Given the description of an element on the screen output the (x, y) to click on. 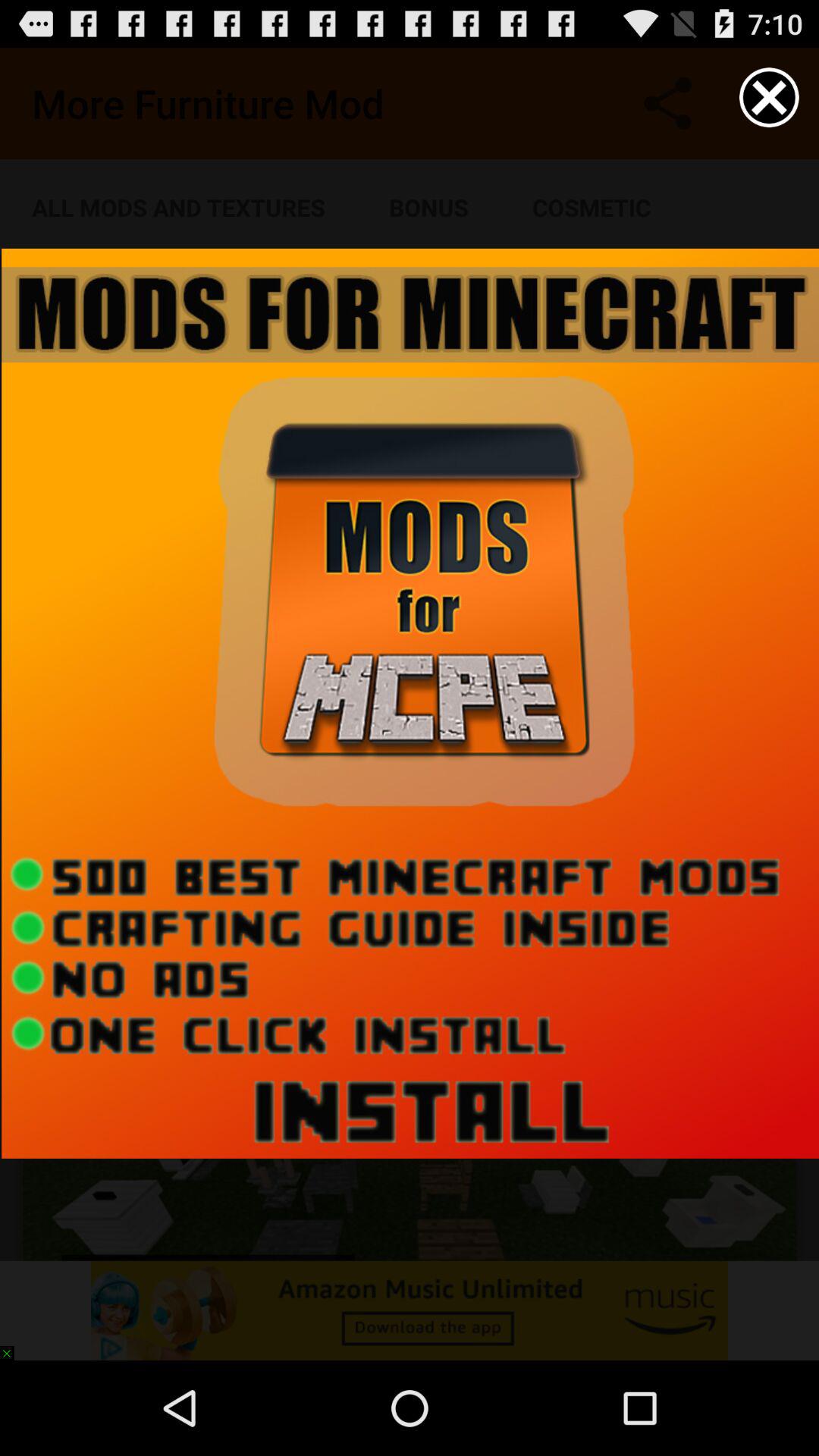
tap icon at the top right corner (769, 97)
